Given the description of an element on the screen output the (x, y) to click on. 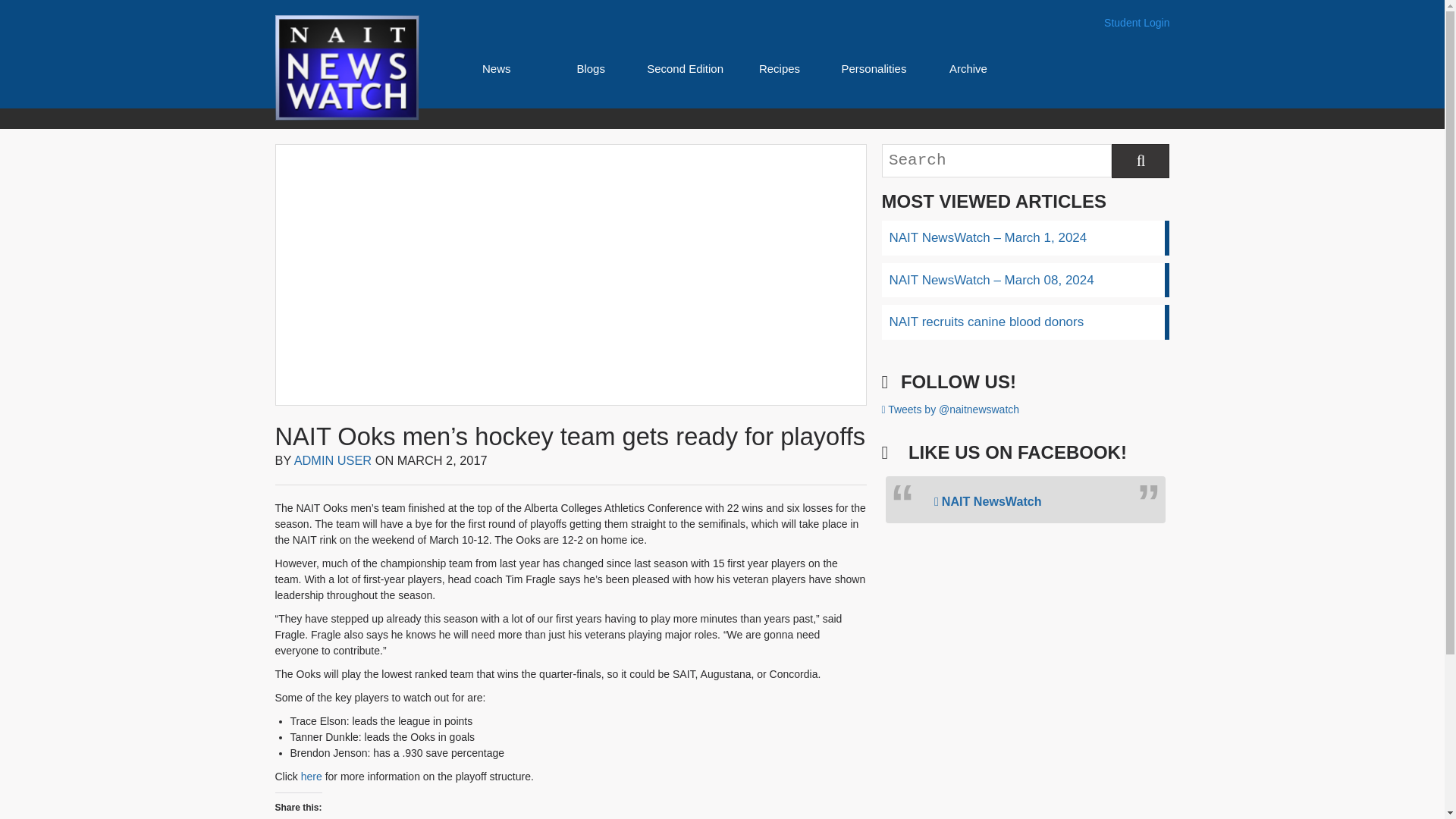
NAIT NewsWatch (988, 500)
ADMIN USER (333, 459)
here (311, 776)
Student Login (1136, 23)
Second Edition (684, 68)
Recipes (778, 68)
Archive (968, 68)
Personalities (874, 68)
Blogs (590, 68)
News (496, 68)
NAIT recruits canine blood donors (1024, 321)
